Given the description of an element on the screen output the (x, y) to click on. 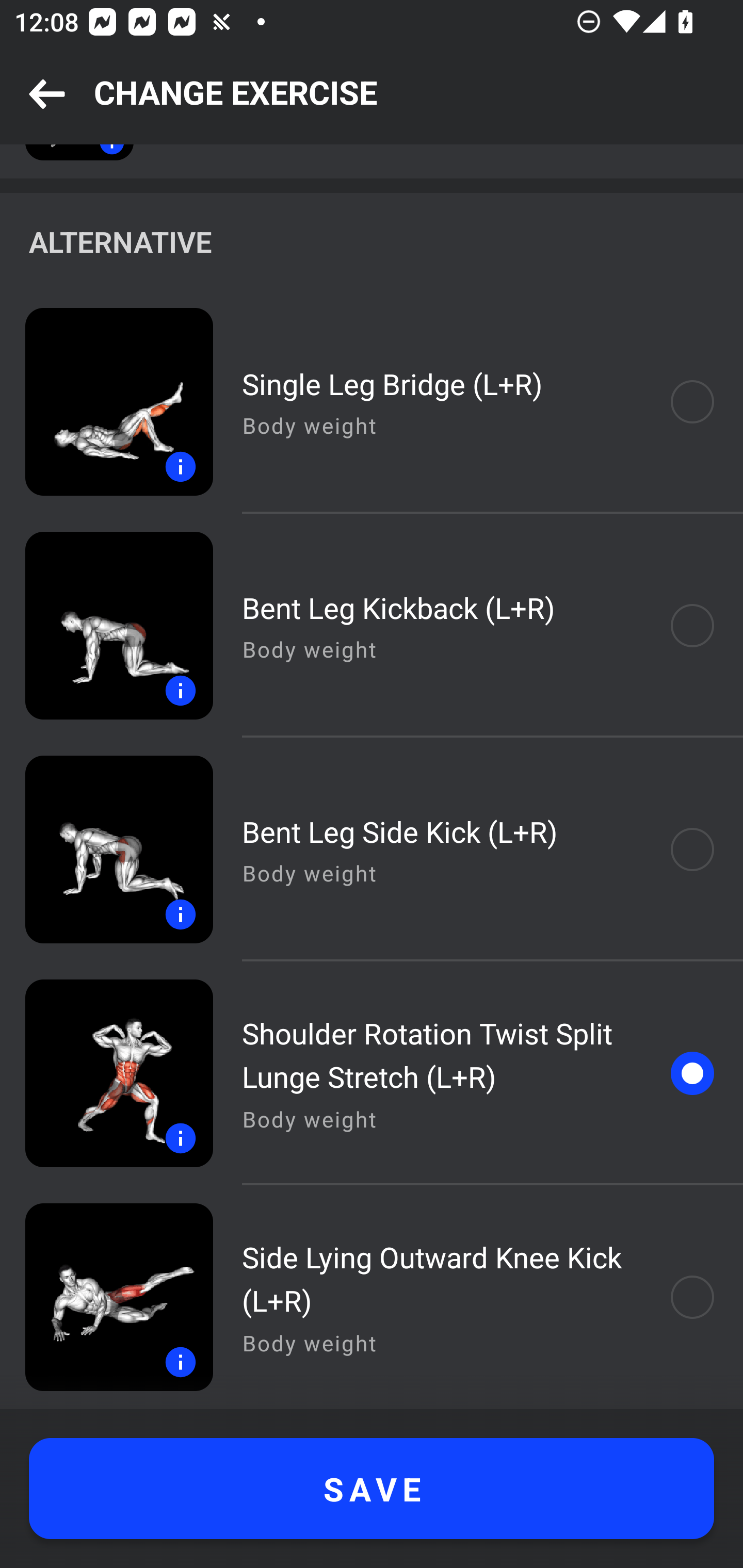
Navigation icon (46, 94)
details Single Leg Bridge (L+R) Body weight (371, 402)
details (106, 402)
details Bent Leg Kickback (L+R) Body weight (371, 625)
details (106, 625)
details Bent Leg Side Kick (L+R) Body weight (371, 848)
details (106, 848)
details (106, 1073)
details (106, 1297)
SAVE (371, 1488)
